Given the description of an element on the screen output the (x, y) to click on. 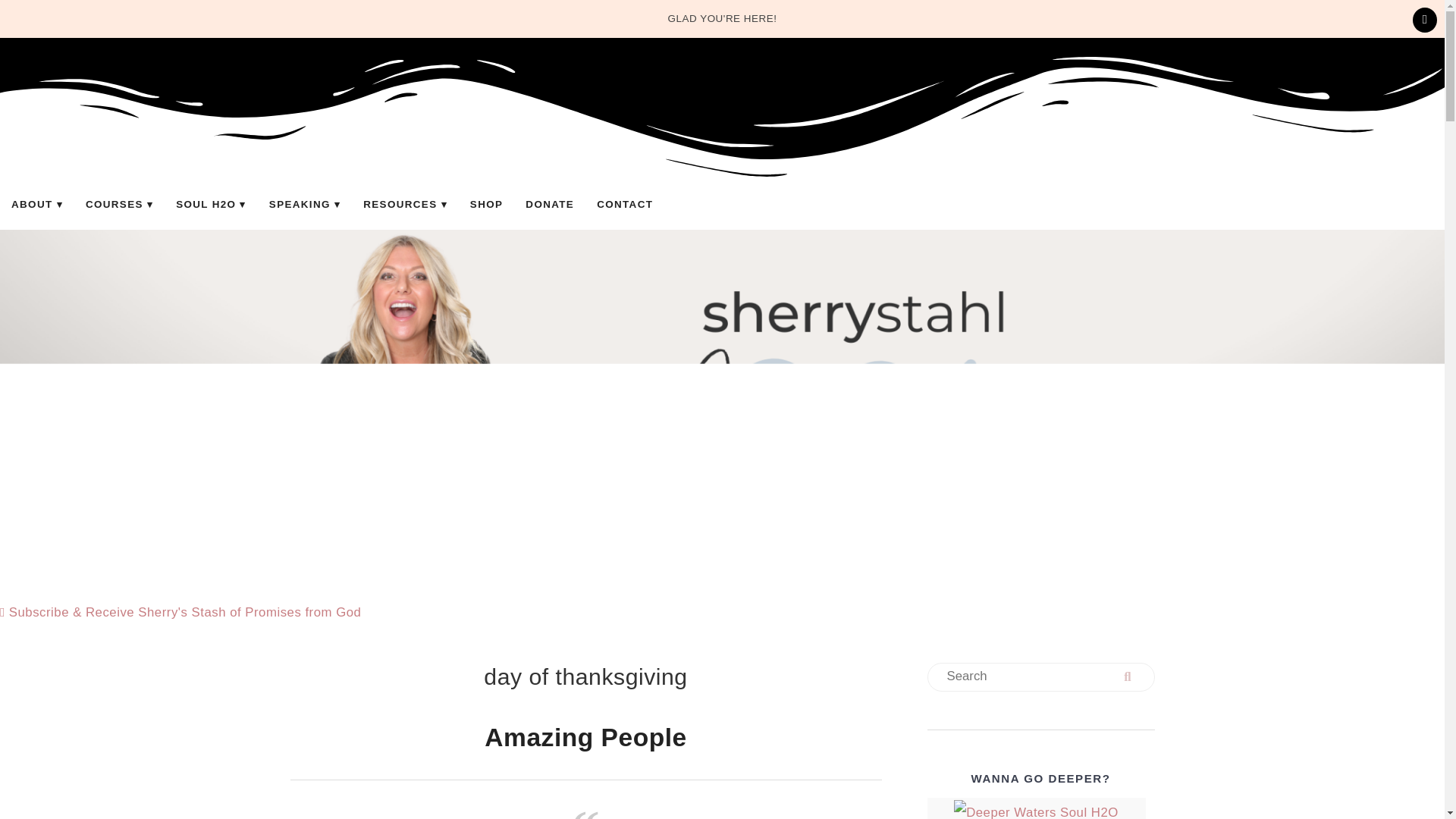
Deeper Waters Posts (1035, 809)
DONATE (549, 204)
CONTACT (624, 204)
COURSES (119, 204)
ABOUT (37, 204)
Amazing People (584, 737)
SOUL H2O (210, 204)
SHOP (485, 204)
Amazing People (584, 737)
RESOURCES (405, 204)
